Given the description of an element on the screen output the (x, y) to click on. 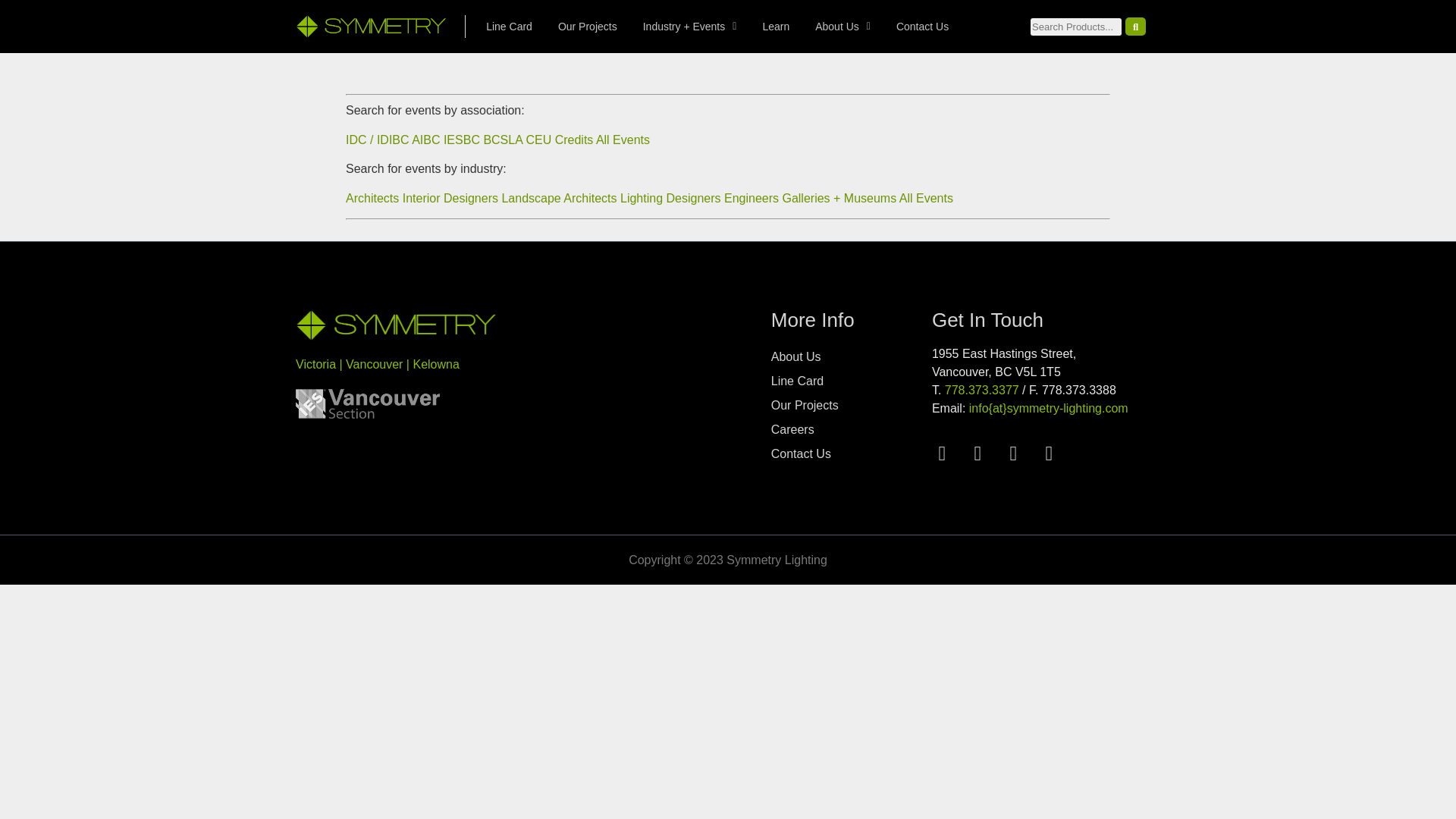
Line Card (508, 26)
About Us (842, 26)
Contact Us (921, 26)
Learn (775, 26)
Our Projects (587, 26)
